Given the description of an element on the screen output the (x, y) to click on. 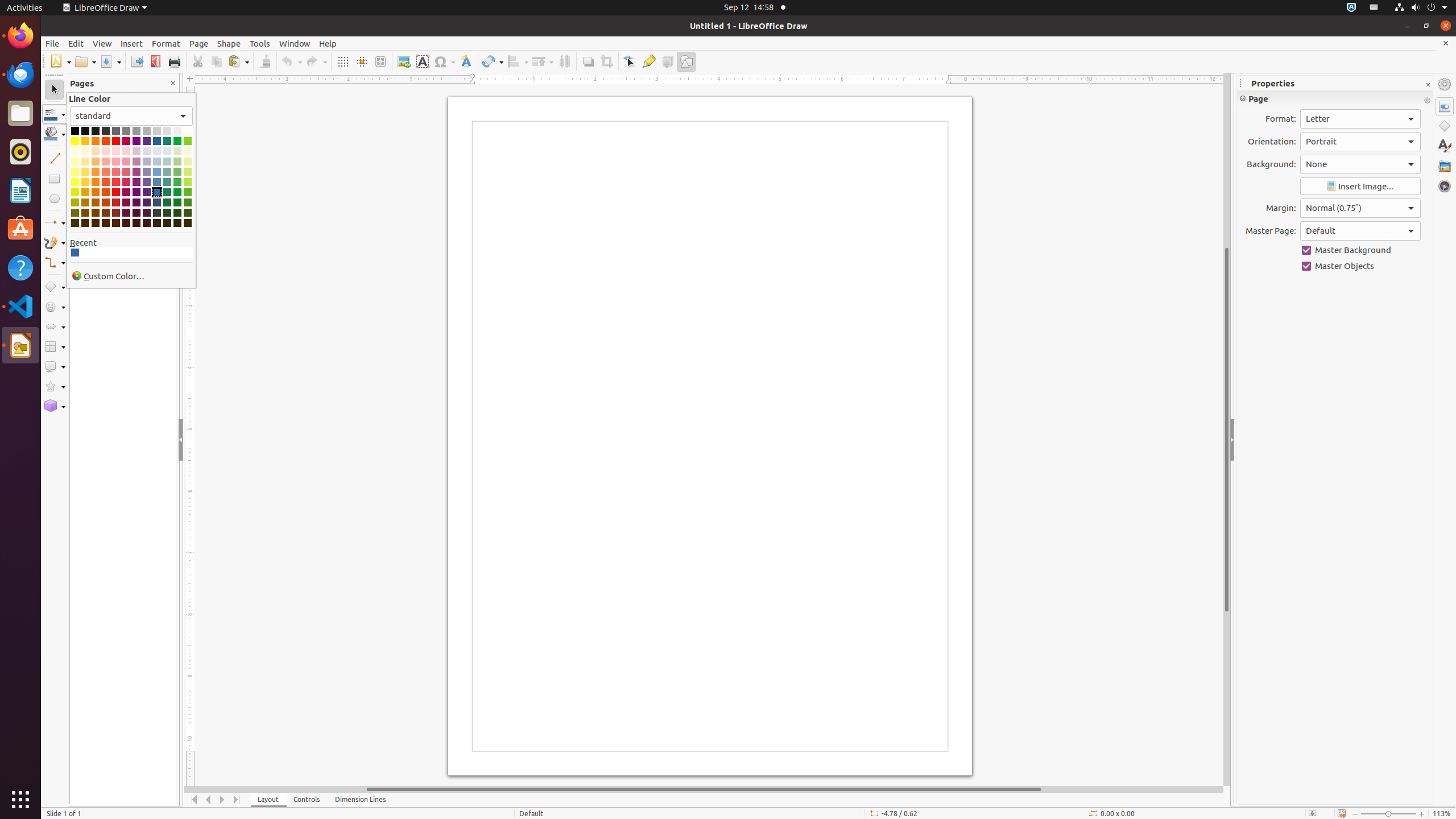
Dark Gray 1 Element type: list-item (115, 130)
Light Magenta 2 Element type: list-item (126, 171)
View Element type: menu (102, 43)
System Element type: menu (1420, 7)
Red Element type: list-item (115, 140)
